Given the description of an element on the screen output the (x, y) to click on. 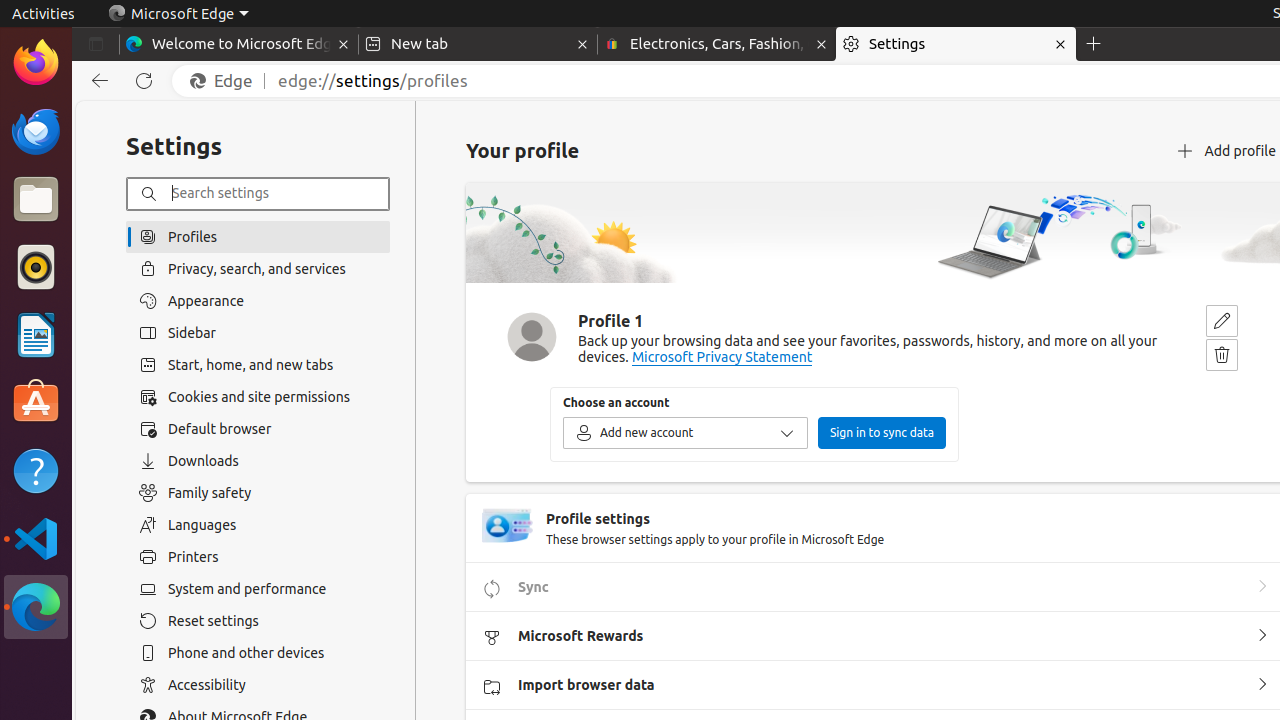
Cookies and site permissions Element type: tree-item (258, 397)
Firefox Web Browser Element type: push-button (36, 63)
Printers Element type: tree-item (258, 557)
Downloads Element type: tree-item (258, 461)
Sign in to sync data Element type: push-button (882, 433)
